Given the description of an element on the screen output the (x, y) to click on. 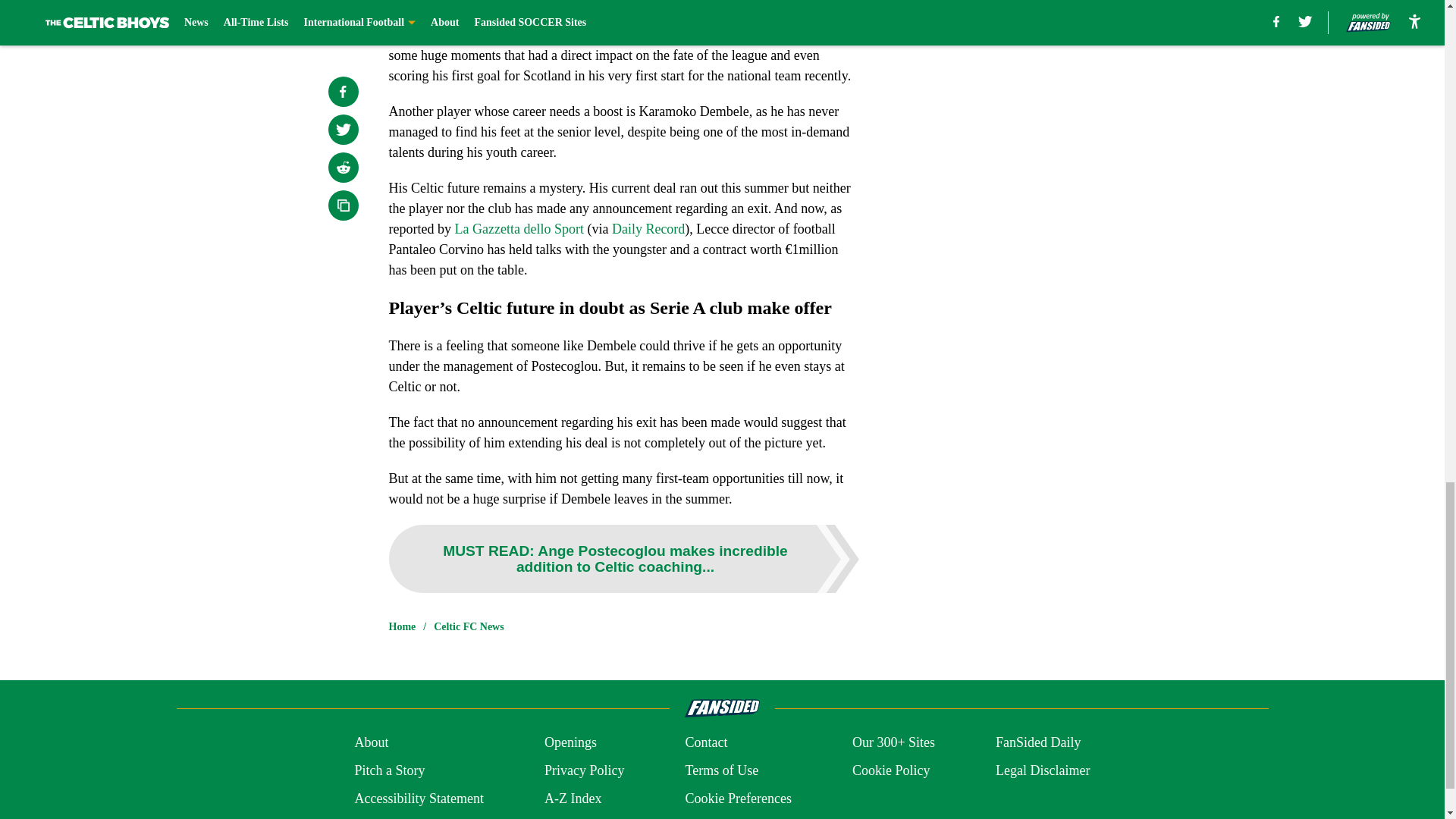
Cookie Policy (890, 770)
Home (401, 626)
Terms of Use (721, 770)
La Gazzetta dello Sport (518, 228)
Privacy Policy (584, 770)
FanSided Daily (1038, 742)
Legal Disclaimer (1042, 770)
Pitch a Story (389, 770)
A-Z Index (572, 798)
Openings (570, 742)
